Given the description of an element on the screen output the (x, y) to click on. 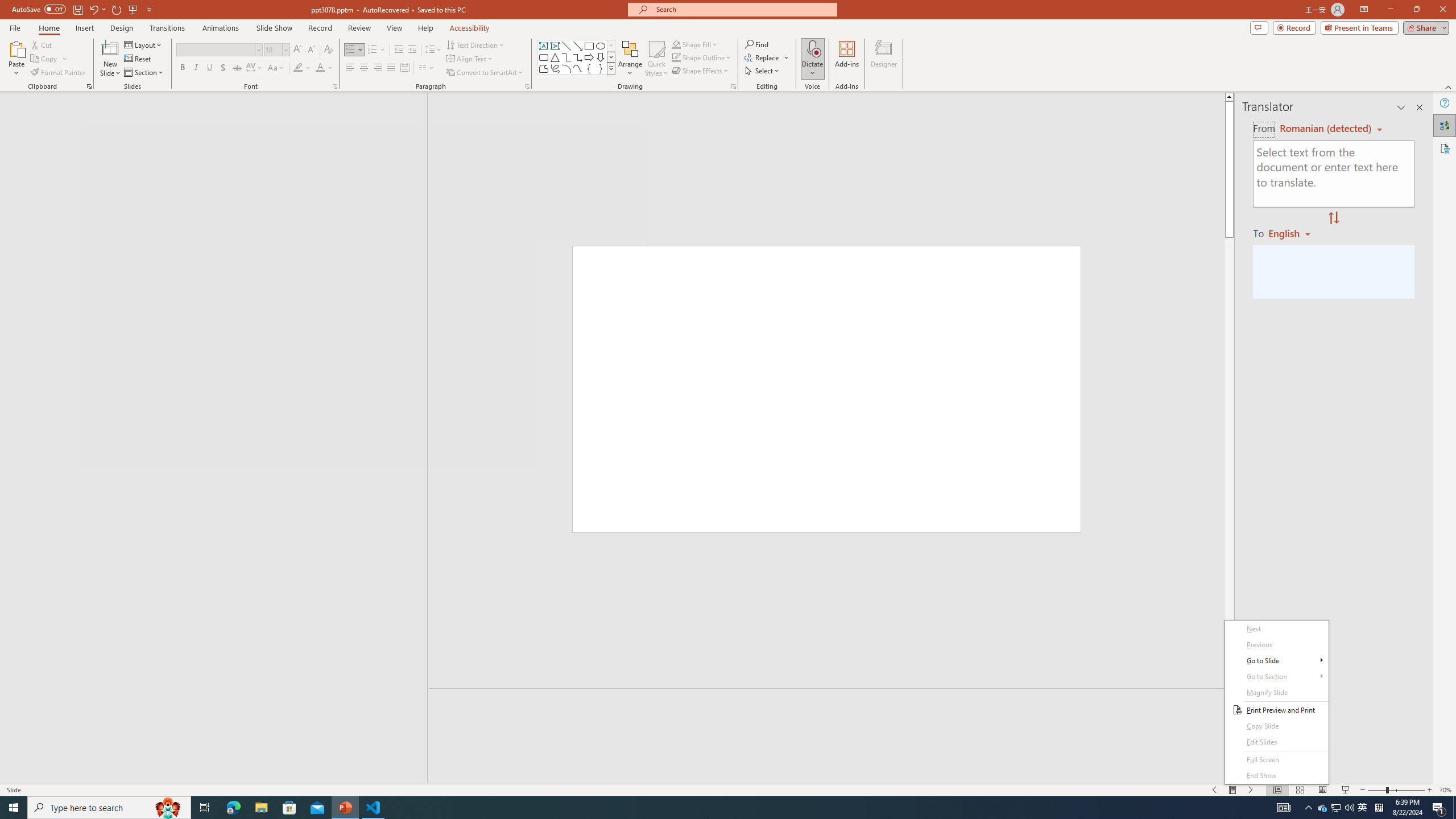
Next (1276, 628)
Class: NetUITWMenuContainer (1322, 807)
New Text Document (1276, 701)
Recycle Bin (489, 194)
Print Preview and Print (21, 22)
Previous (1276, 710)
Magnify Slide (1276, 644)
Edit Slides (1276, 692)
